Given the description of an element on the screen output the (x, y) to click on. 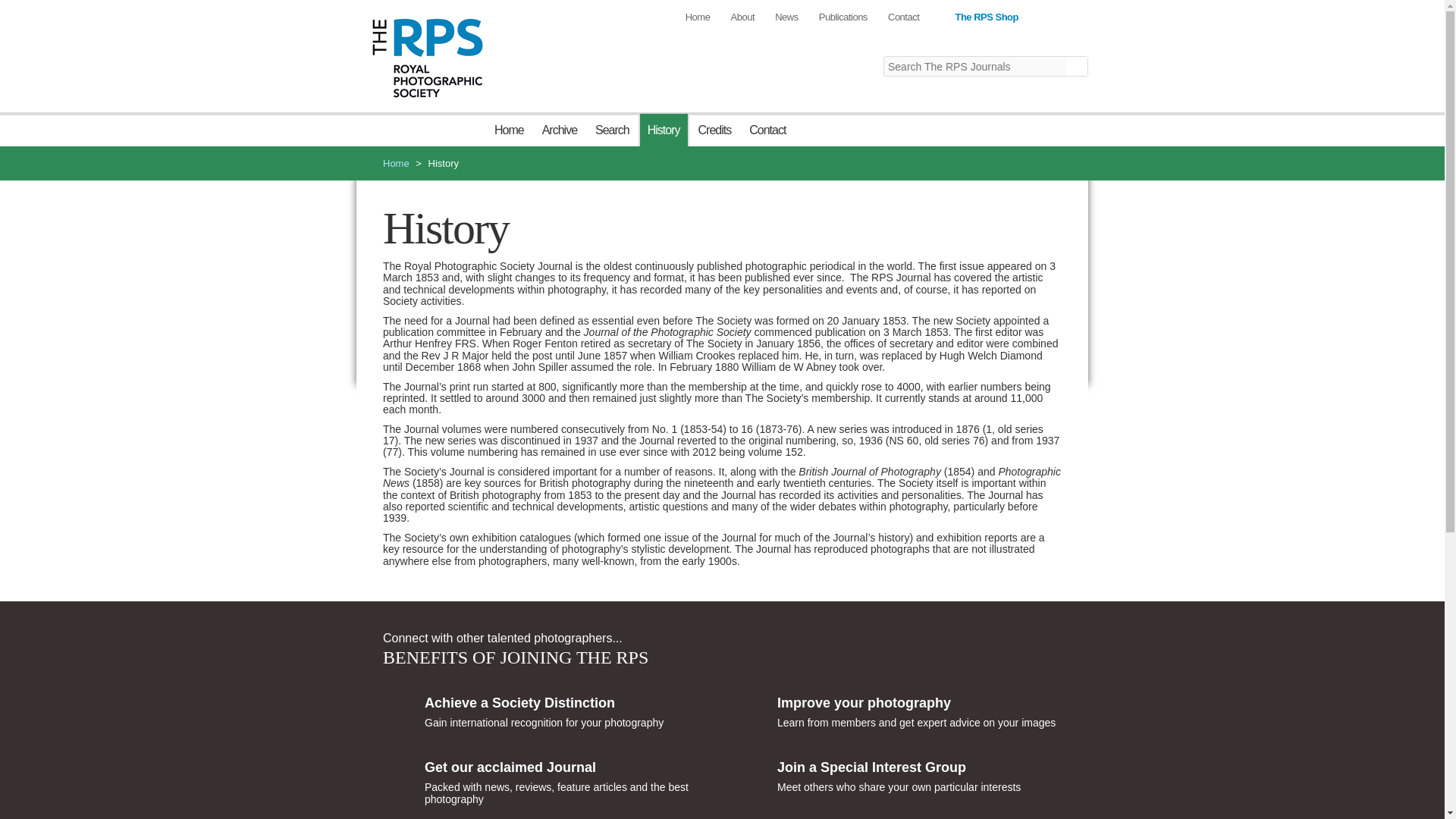
Credits (714, 129)
Publications (842, 16)
Contact (766, 129)
About (742, 16)
Archive (559, 129)
The RPS Shop (978, 16)
The Royal Photographic Society (427, 56)
Contact (903, 16)
Search (612, 129)
History (663, 130)
